Given the description of an element on the screen output the (x, y) to click on. 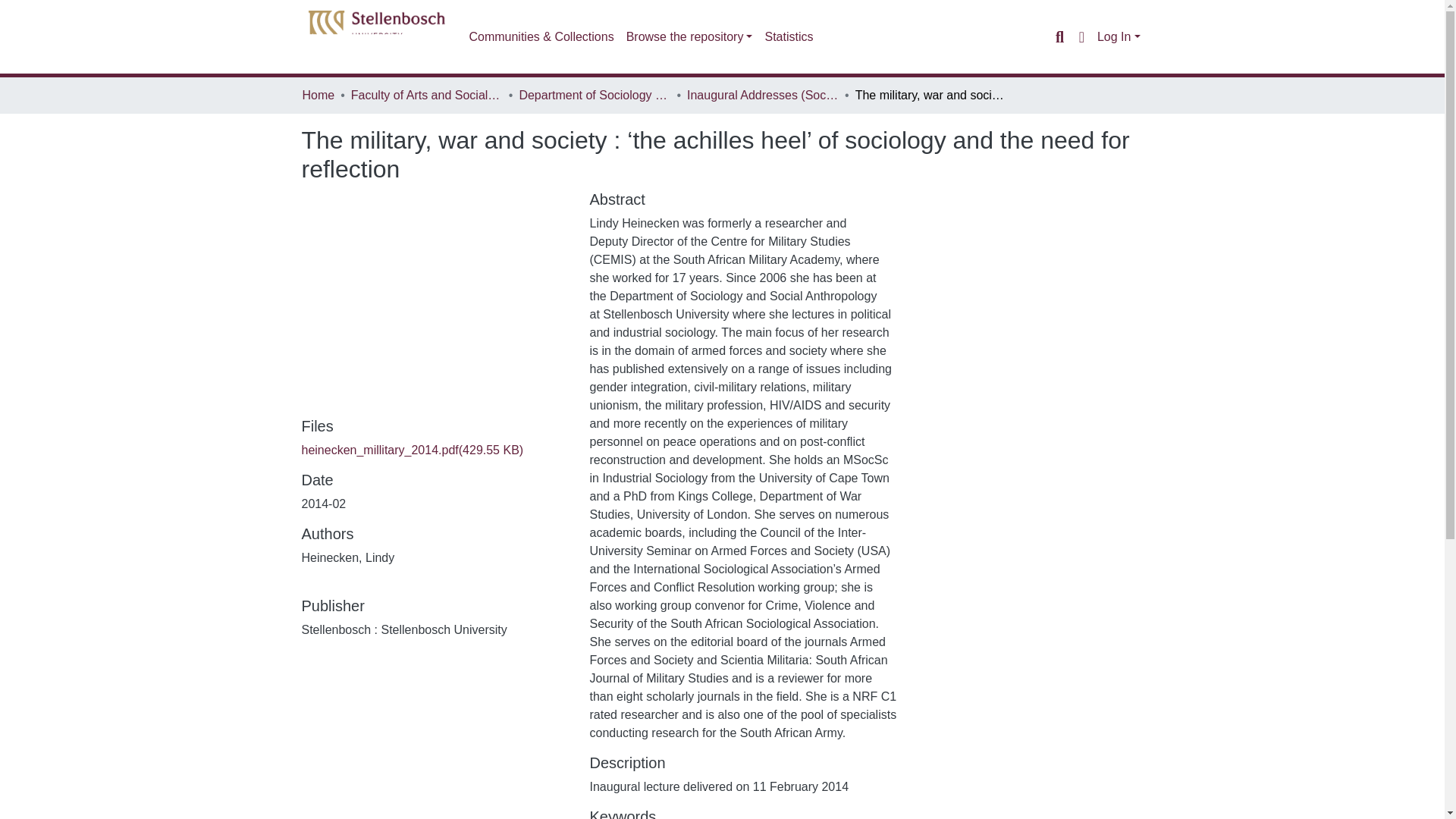
Statistics (788, 37)
Statistics (788, 37)
Language switch (1081, 36)
Department of Sociology and Social Anthropology (593, 95)
Log In (1118, 36)
Search (1058, 36)
Home (317, 95)
Browse the repository (689, 37)
Faculty of Arts and Social Sciences (426, 95)
